Given the description of an element on the screen output the (x, y) to click on. 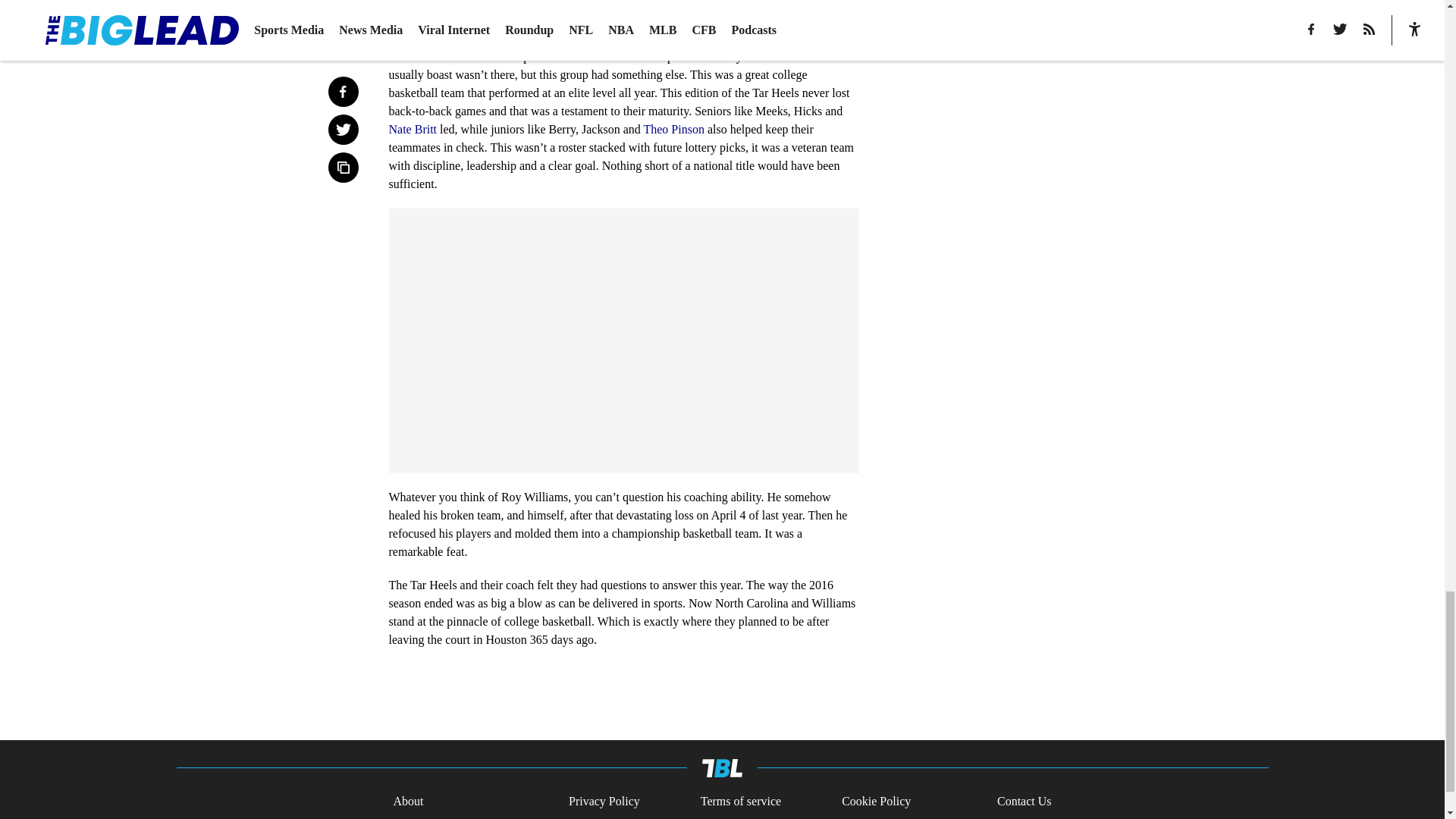
Theo Pinson (673, 128)
Terms of service (740, 800)
Nate Britt (412, 128)
Privacy Policy (604, 800)
Cookie Policy (876, 800)
About (408, 800)
Contact Us (1024, 800)
